Given the description of an element on the screen output the (x, y) to click on. 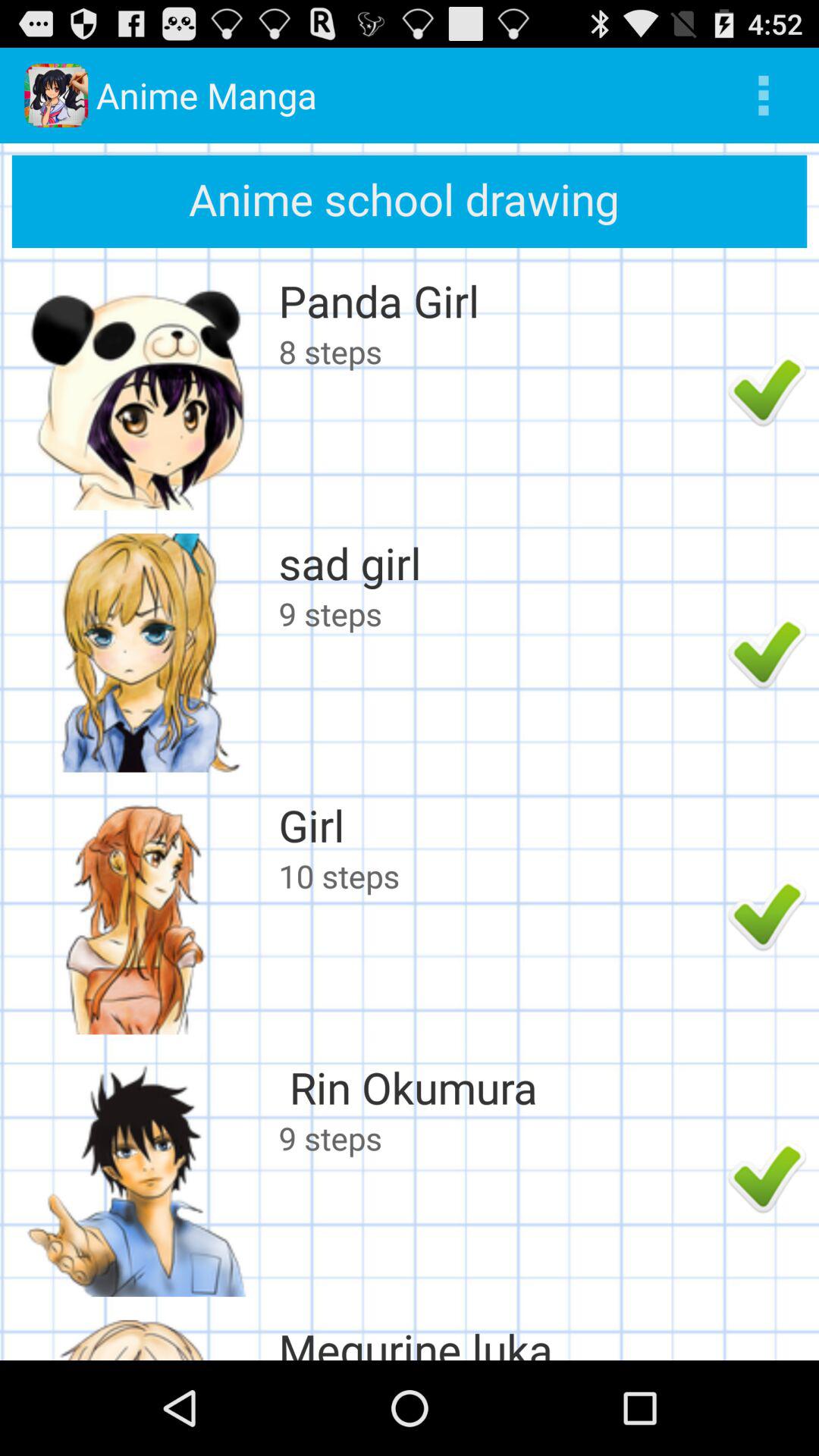
select item above anime school drawing (763, 95)
